Given the description of an element on the screen output the (x, y) to click on. 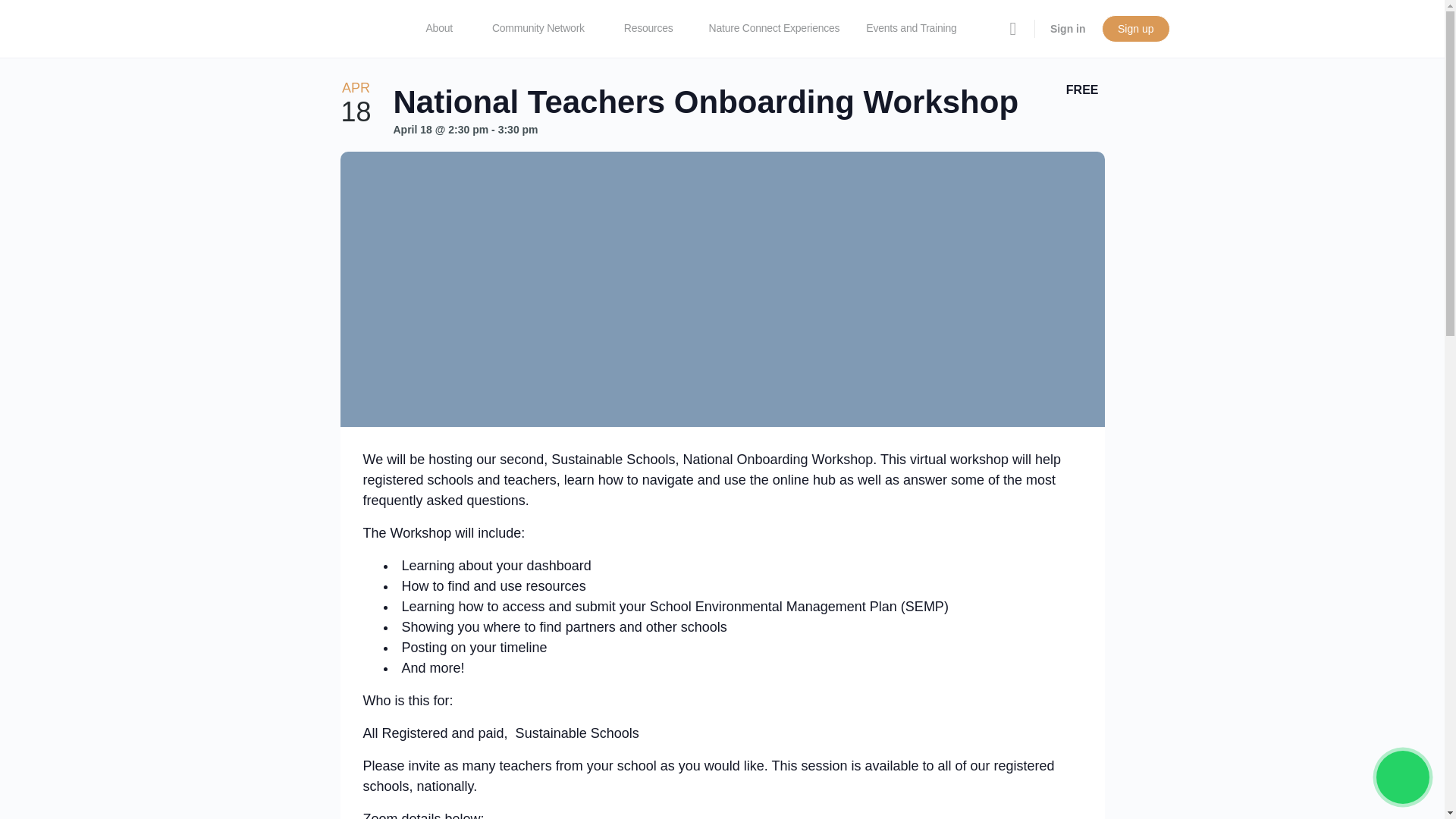
Resources (654, 28)
News (433, 86)
Sign in (1067, 28)
About (446, 28)
Community Network (544, 28)
Nature Connect Experiences (774, 28)
Sign up (1135, 28)
Events and Training (917, 28)
